Given the description of an element on the screen output the (x, y) to click on. 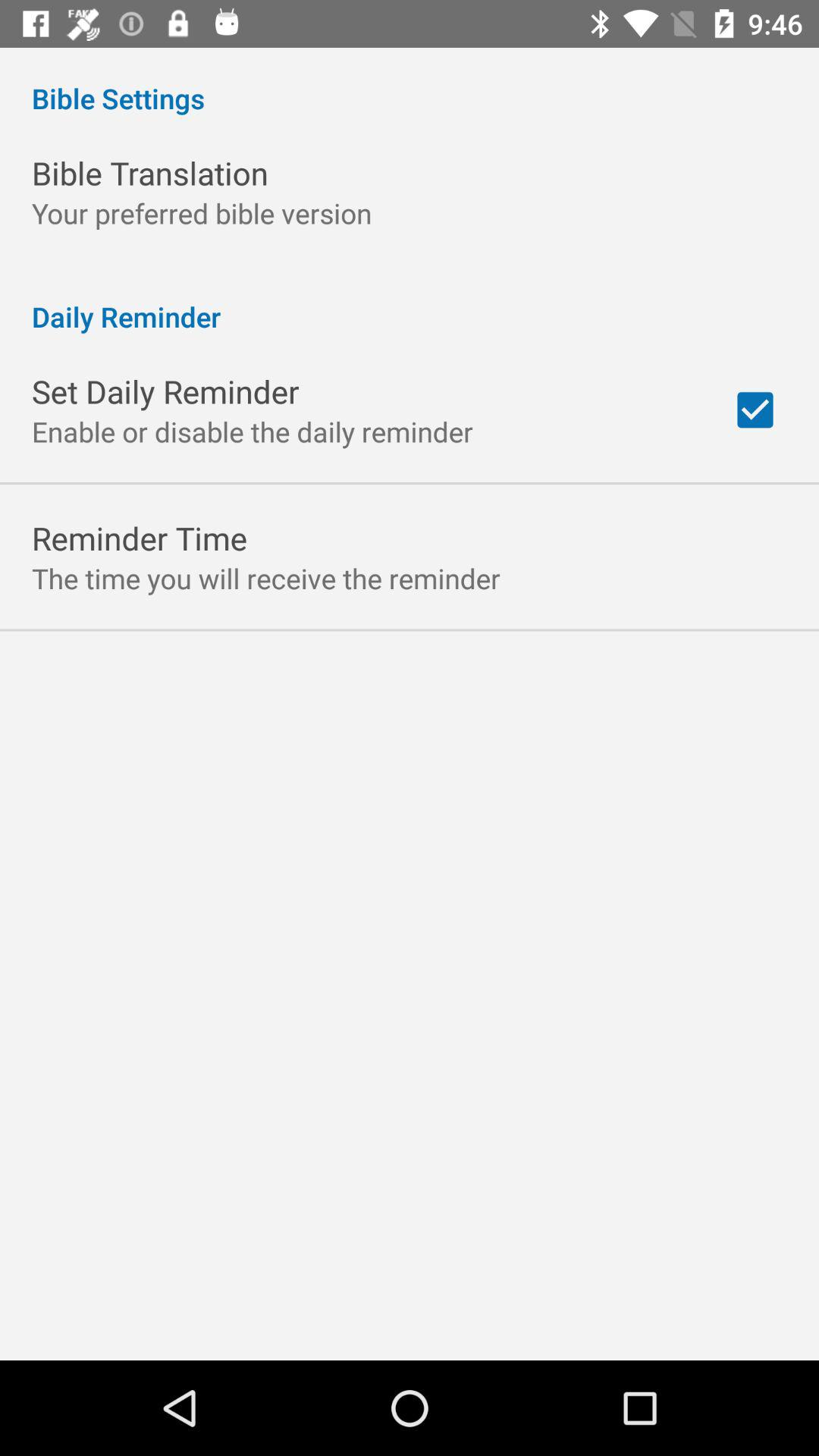
choose item above daily reminder icon (201, 213)
